Given the description of an element on the screen output the (x, y) to click on. 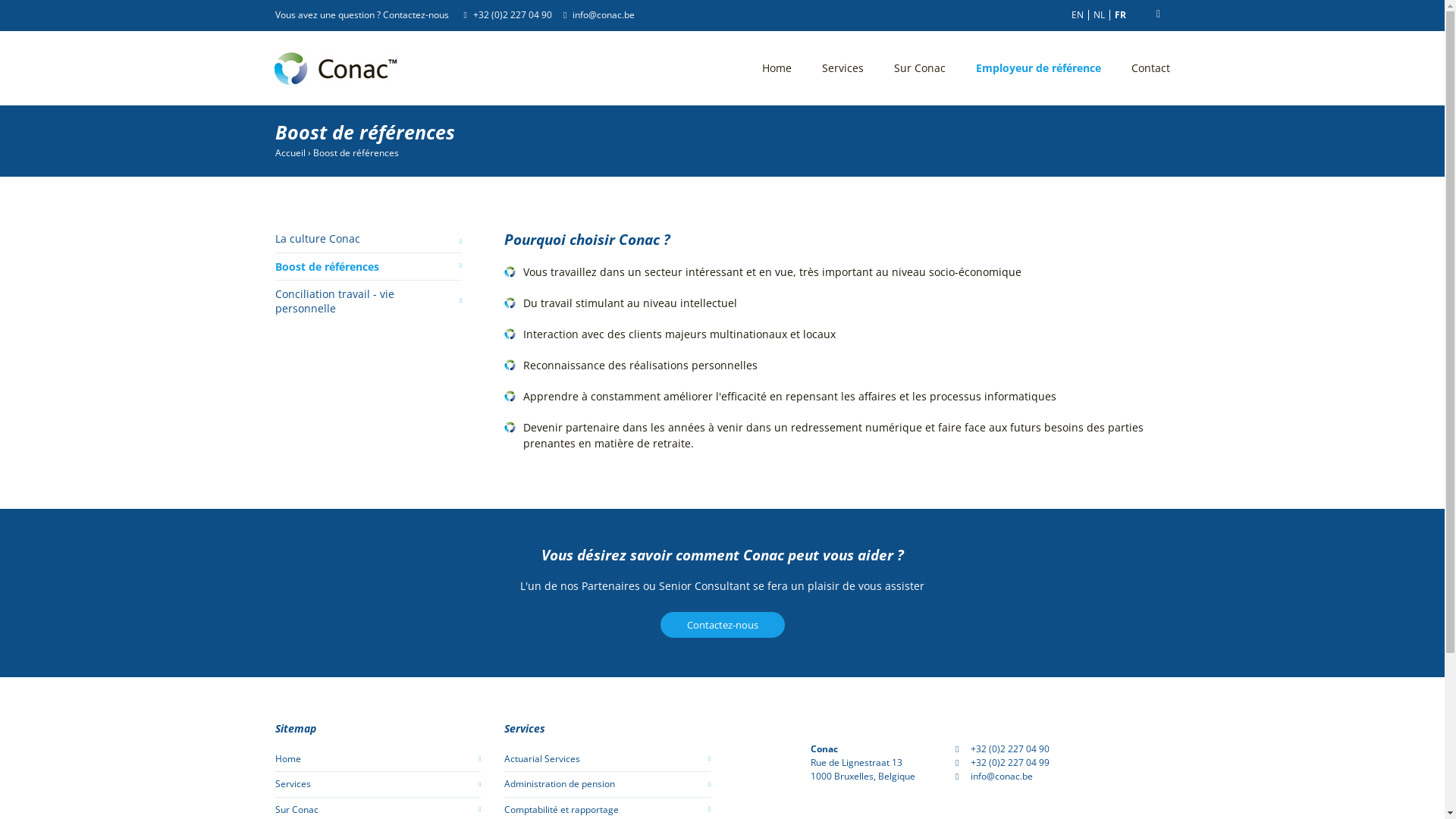
info@conac.be Element type: text (1001, 775)
Accueil Element type: hover (336, 68)
La culture Conac Element type: text (367, 241)
Actuarial Services Element type: text (607, 758)
Contact Element type: text (1150, 67)
Home Element type: text (377, 758)
+32 (0)2 227 04 90 Element type: text (512, 14)
NL Element type: text (1098, 14)
Conciliation travail - vie personnelle Element type: text (367, 301)
FR Element type: text (1120, 14)
+32 (0)2 227 04 90 Element type: text (1009, 748)
Services Element type: text (842, 67)
Sur Conac Element type: text (918, 67)
info@conac.be Element type: text (603, 14)
LinkedIn Embedded Content Element type: hover (810, 734)
Services Element type: text (377, 784)
Accueil Element type: text (289, 152)
EN Element type: text (1076, 14)
Home Element type: text (775, 67)
Administration de pension Element type: text (607, 784)
Contactez-nous Element type: text (721, 624)
